Given the description of an element on the screen output the (x, y) to click on. 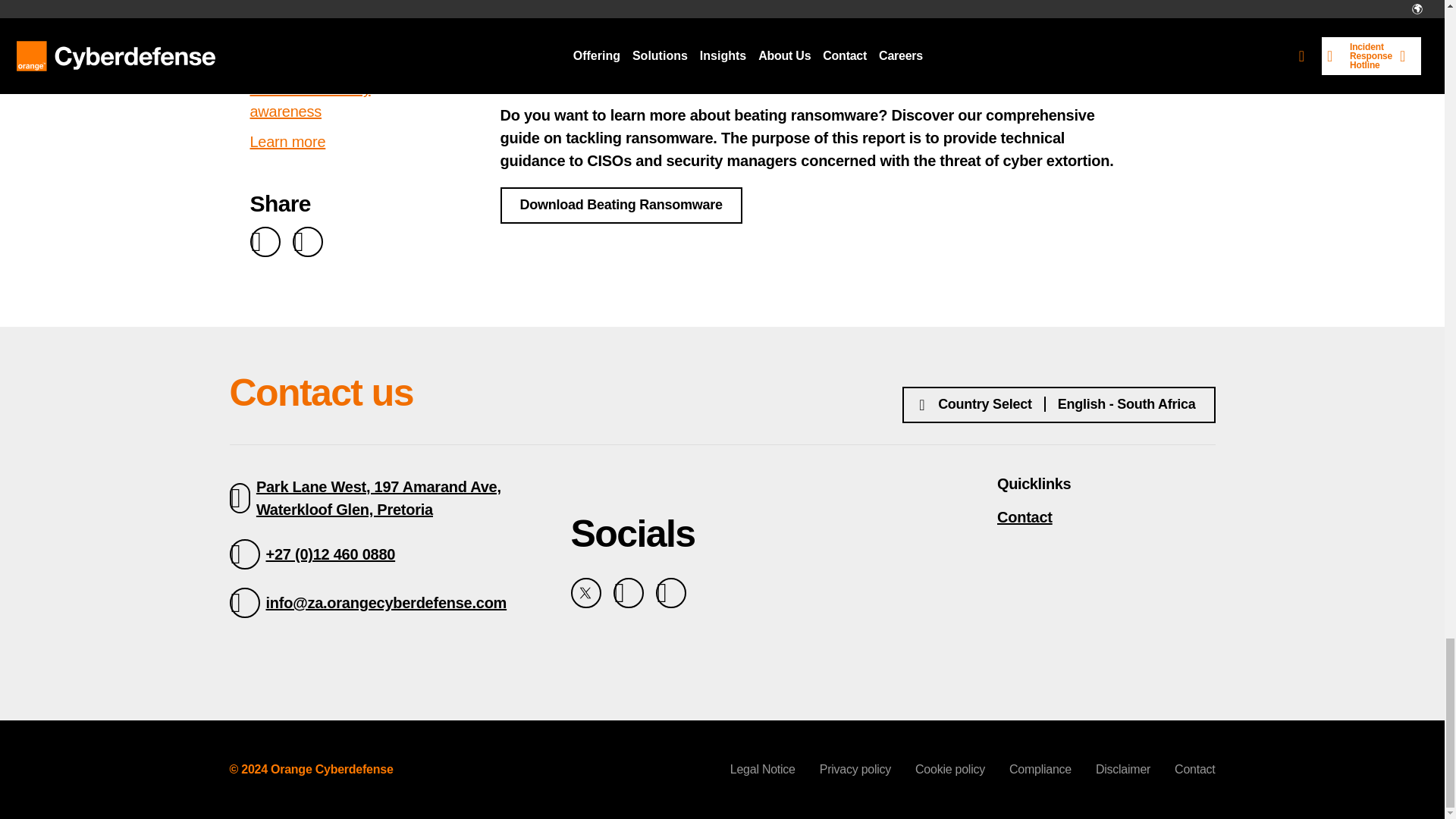
Contact (1106, 517)
